Given the description of an element on the screen output the (x, y) to click on. 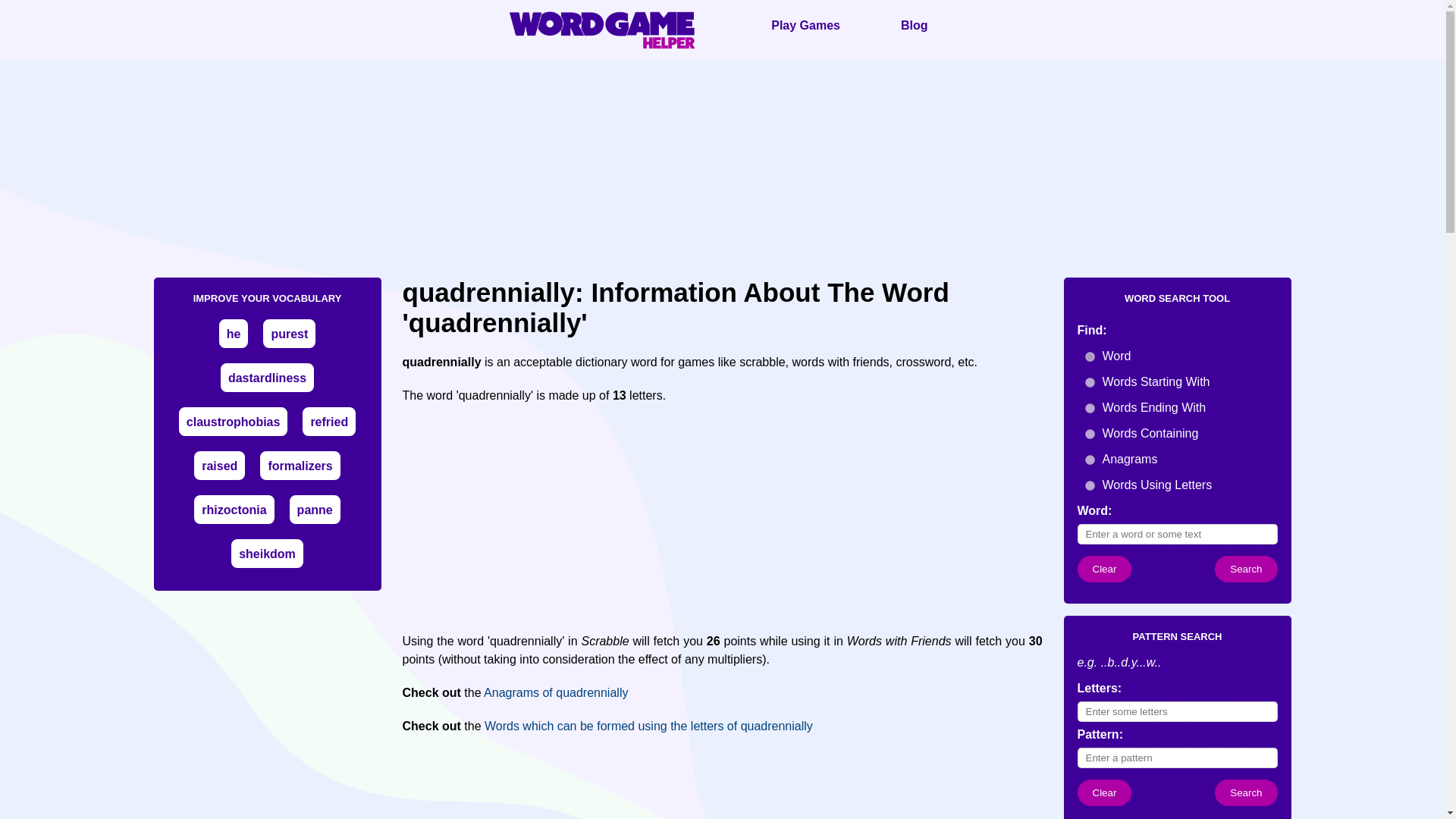
rhizoctonia (234, 509)
Blog (914, 24)
formalizers (299, 465)
3 (1089, 408)
he (234, 333)
dastardliness (266, 377)
1 (1089, 356)
panne (315, 509)
2 (1089, 382)
refried (328, 421)
